Given the description of an element on the screen output the (x, y) to click on. 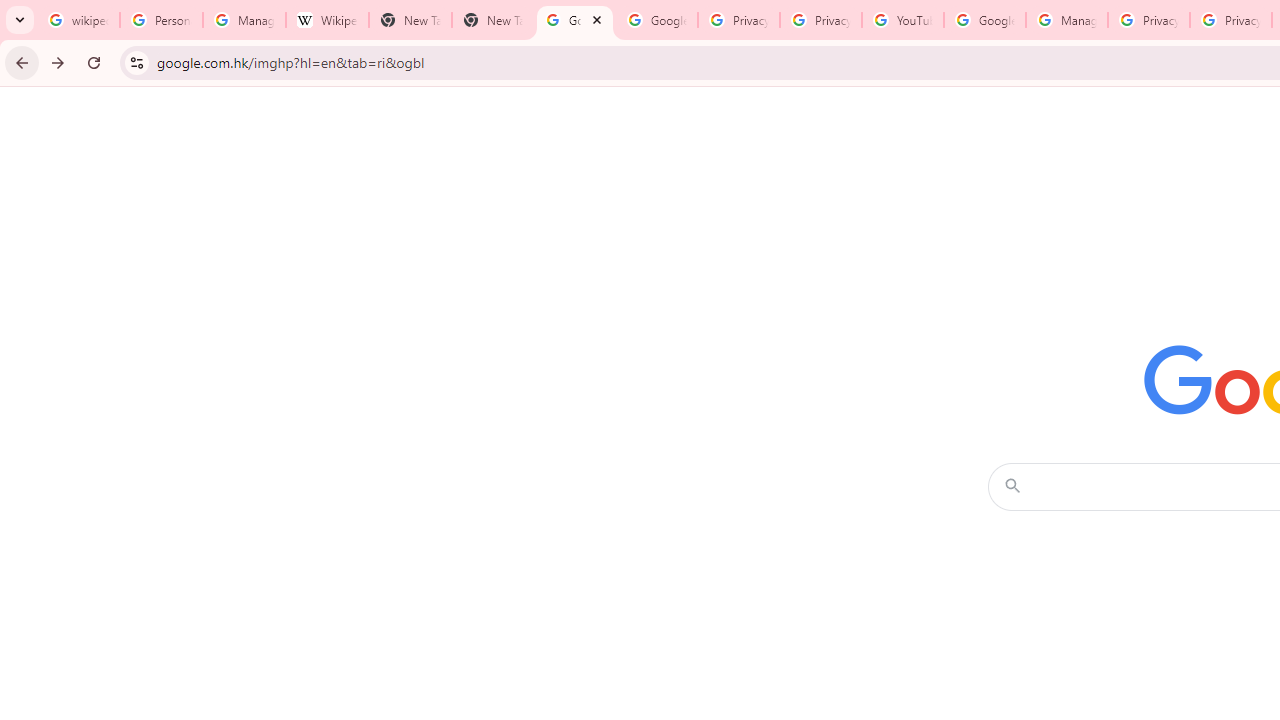
Google Images (574, 20)
New Tab (409, 20)
Manage your Location History - Google Search Help (244, 20)
Google Drive: Sign-in (656, 20)
